Given the description of an element on the screen output the (x, y) to click on. 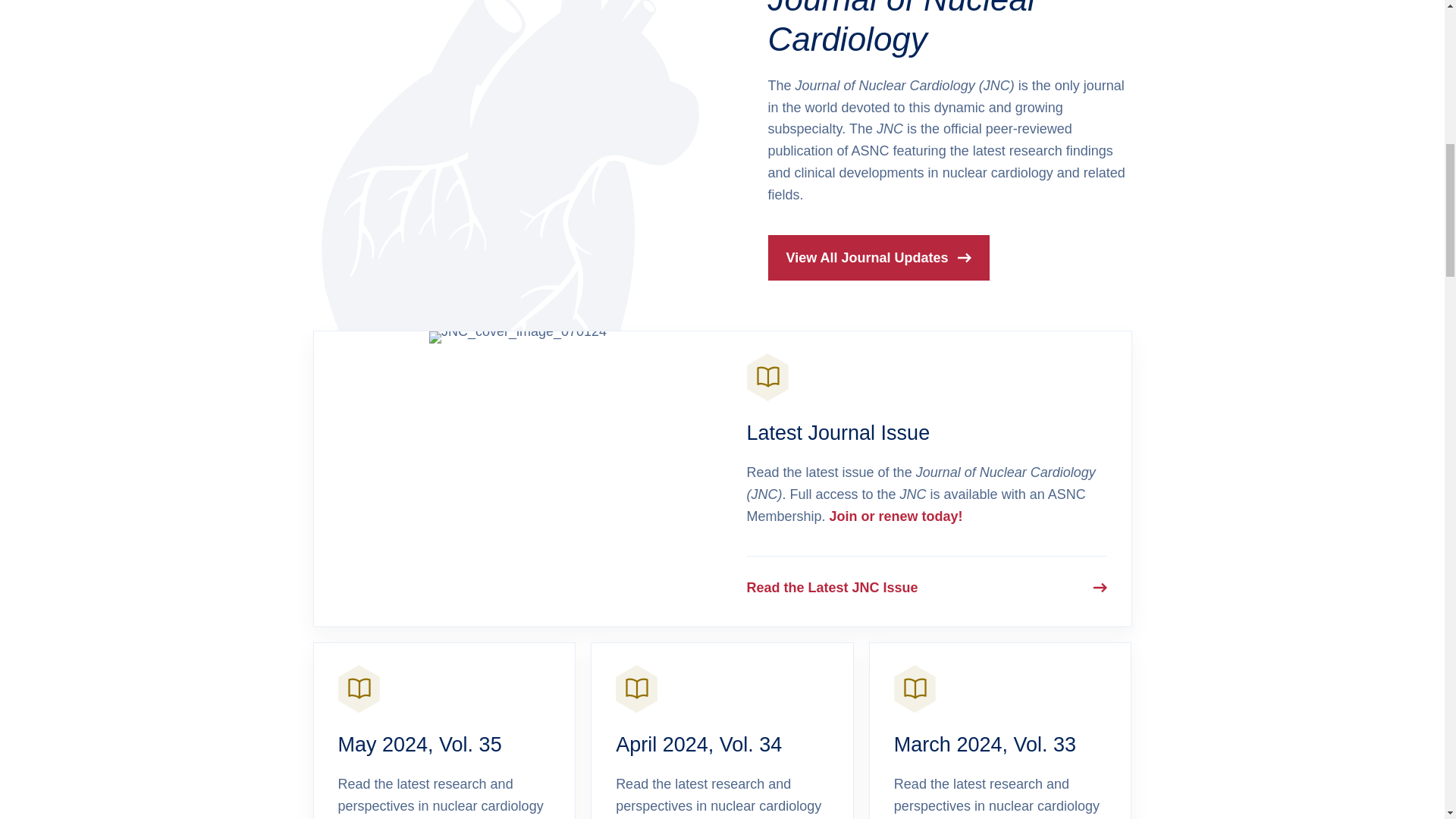
April 2024, Vol. 34 (698, 744)
heart (509, 165)
May 2024, Vol. 35 (419, 744)
Latest Journal Issue (837, 432)
March 2024, Vol. 33 (984, 744)
